Given the description of an element on the screen output the (x, y) to click on. 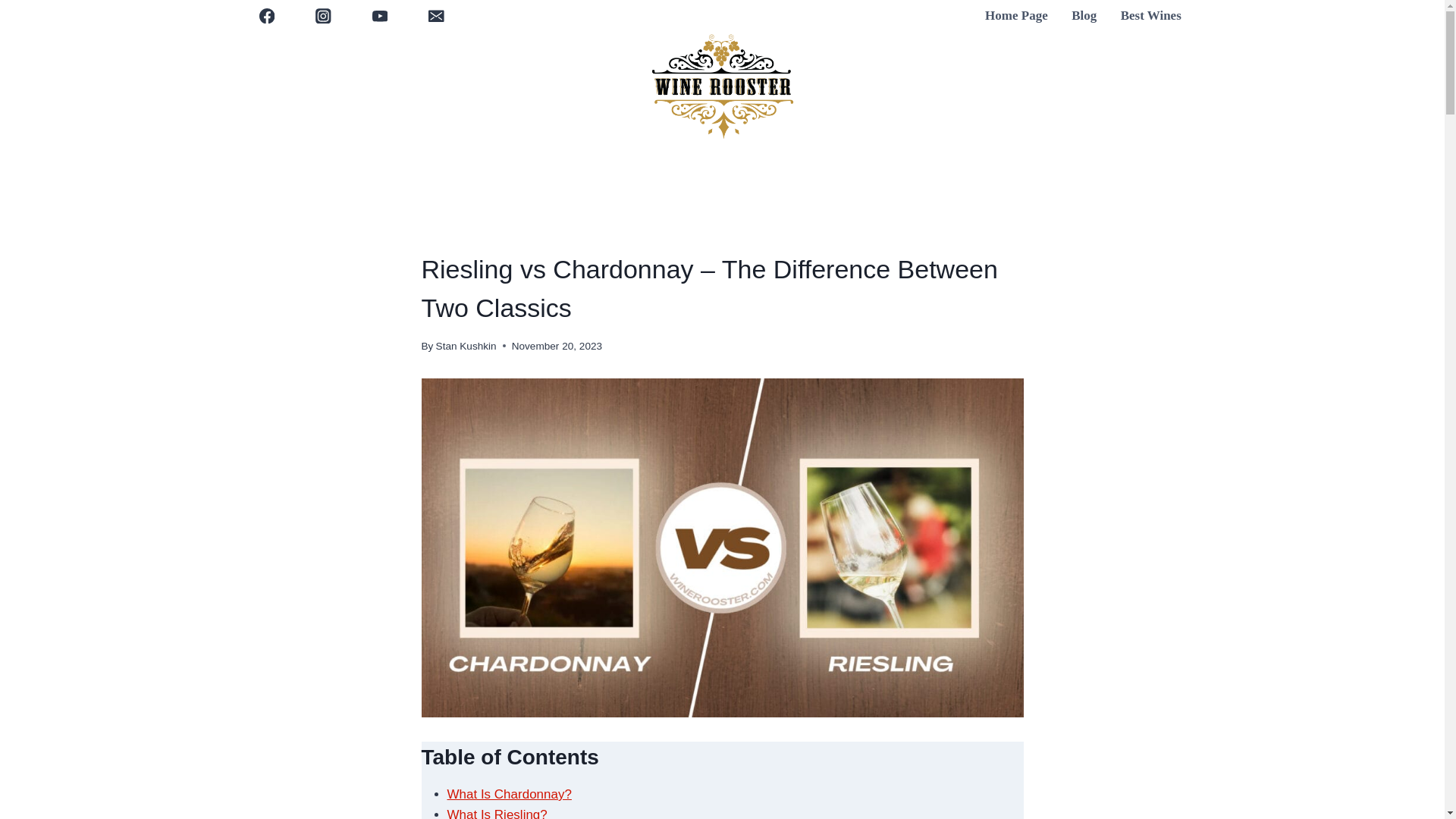
Home Page (1015, 15)
CHARDONNAY (510, 237)
RIESLING (444, 237)
Best Wines (1150, 15)
Blog (1083, 15)
What Is Riesling? (496, 813)
What Is Chardonnay? (509, 794)
Stan Kushkin (465, 346)
